Given the description of an element on the screen output the (x, y) to click on. 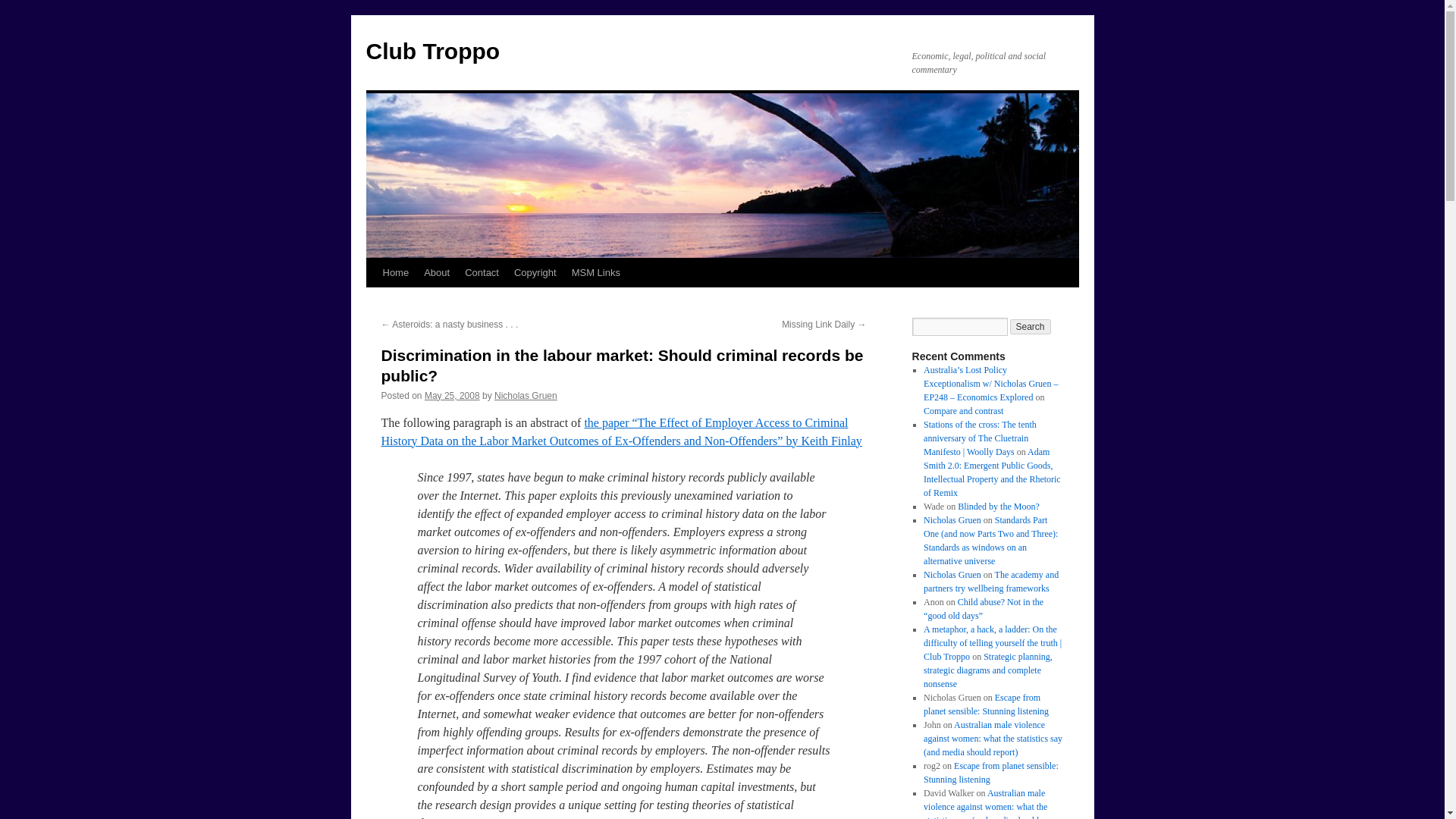
Club Troppo (432, 50)
Search (1030, 326)
10:46 pm (452, 395)
Nicholas Gruen (526, 395)
Club Troppo (432, 50)
View all posts by Nicholas Gruen (526, 395)
Home (395, 272)
About (436, 272)
May 25, 2008 (452, 395)
MSM Links (595, 272)
Copyright (535, 272)
Contact (481, 272)
